Given the description of an element on the screen output the (x, y) to click on. 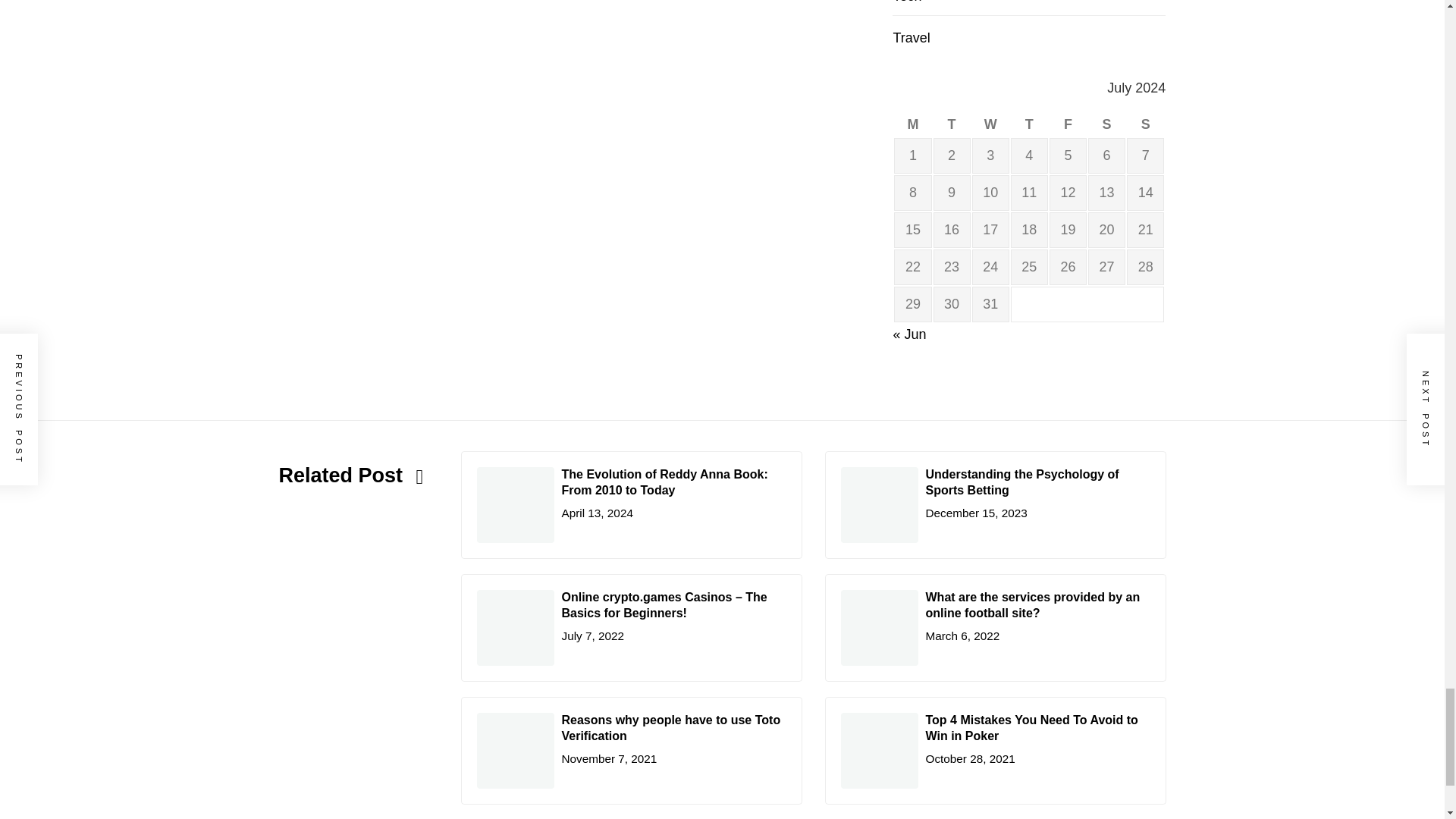
Wednesday (990, 124)
Friday (1067, 124)
Tuesday (952, 124)
Thursday (1029, 124)
Sunday (1144, 124)
Saturday (1106, 124)
Monday (912, 124)
